Given the description of an element on the screen output the (x, y) to click on. 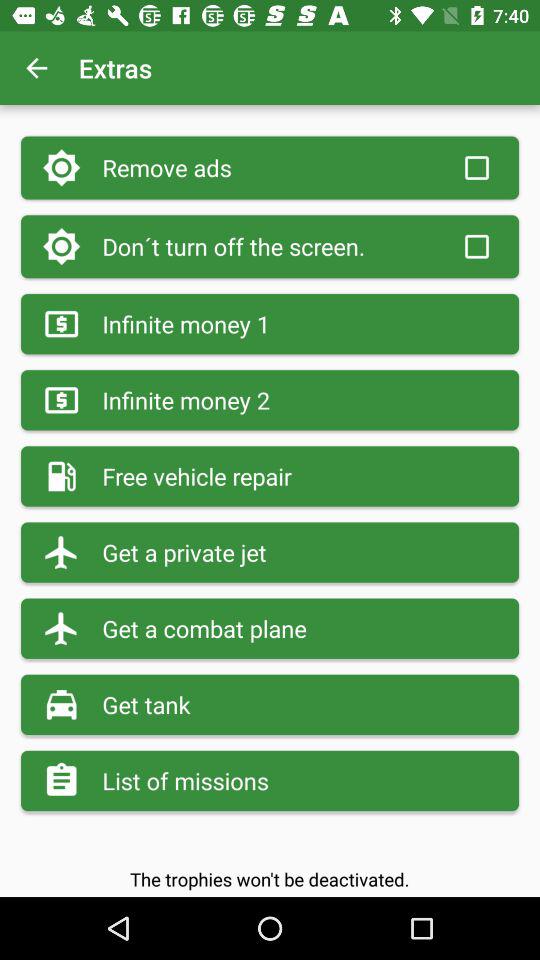
press the item next to the don t turn icon (476, 246)
